Given the description of an element on the screen output the (x, y) to click on. 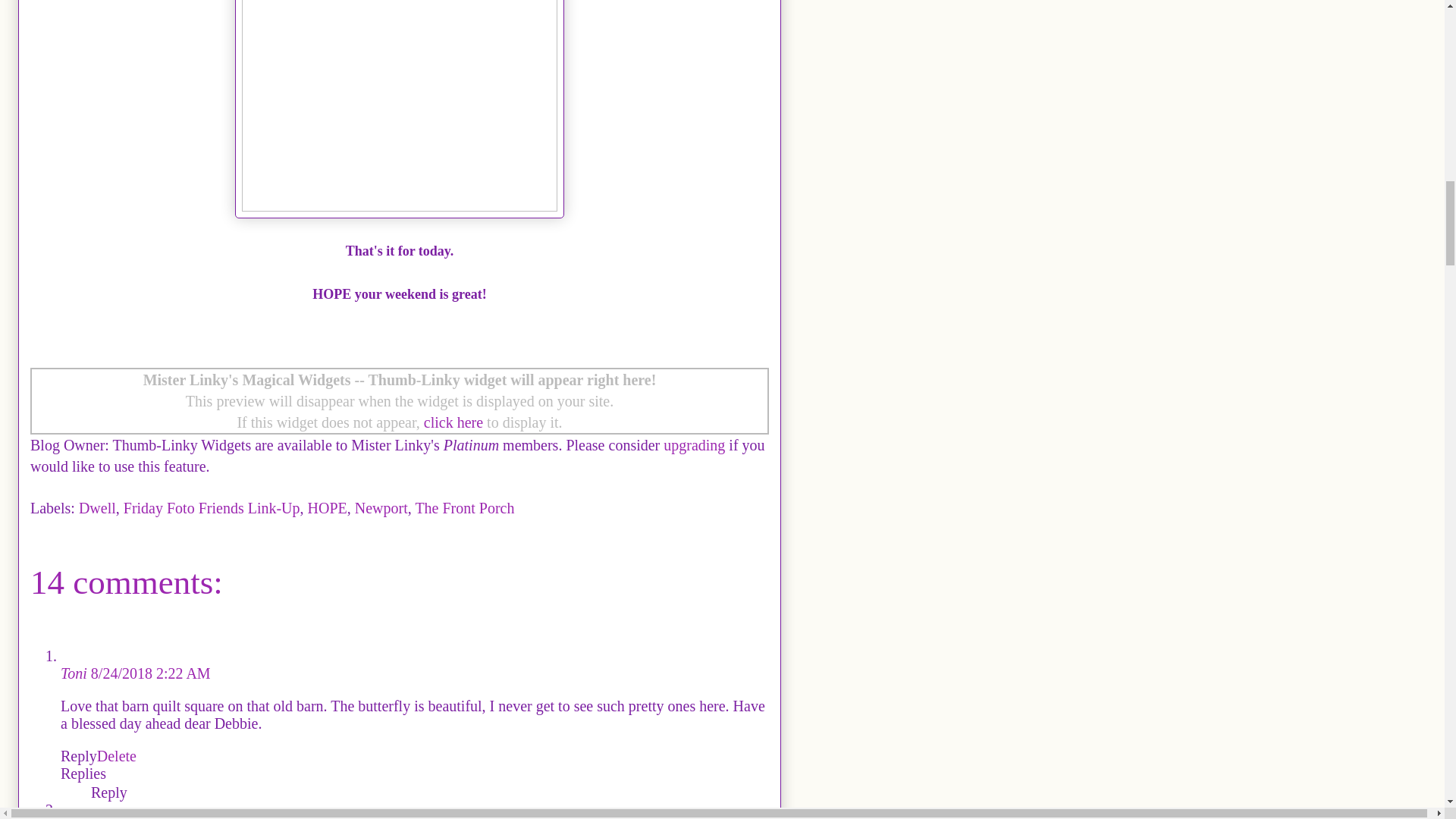
Reply (79, 755)
Toni (75, 673)
Dwell (97, 507)
The Front Porch (463, 507)
Newport (381, 507)
click here (453, 422)
HOPE (327, 507)
upgrading (694, 444)
Delete (116, 755)
Reply (109, 791)
Friday Foto Friends Link-Up (211, 507)
Replies (83, 773)
